Given the description of an element on the screen output the (x, y) to click on. 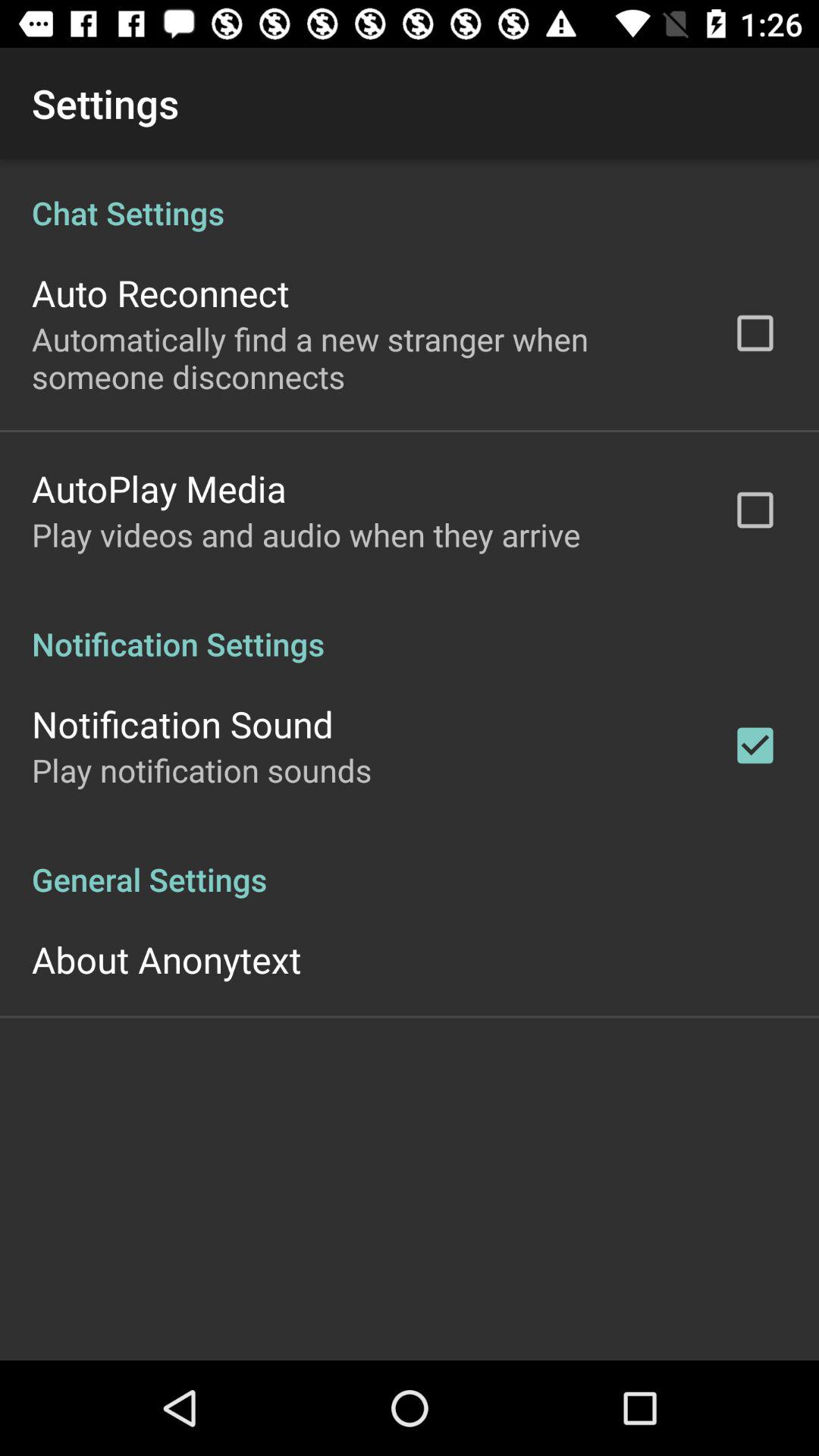
open the icon above the notification settings icon (305, 534)
